Given the description of an element on the screen output the (x, y) to click on. 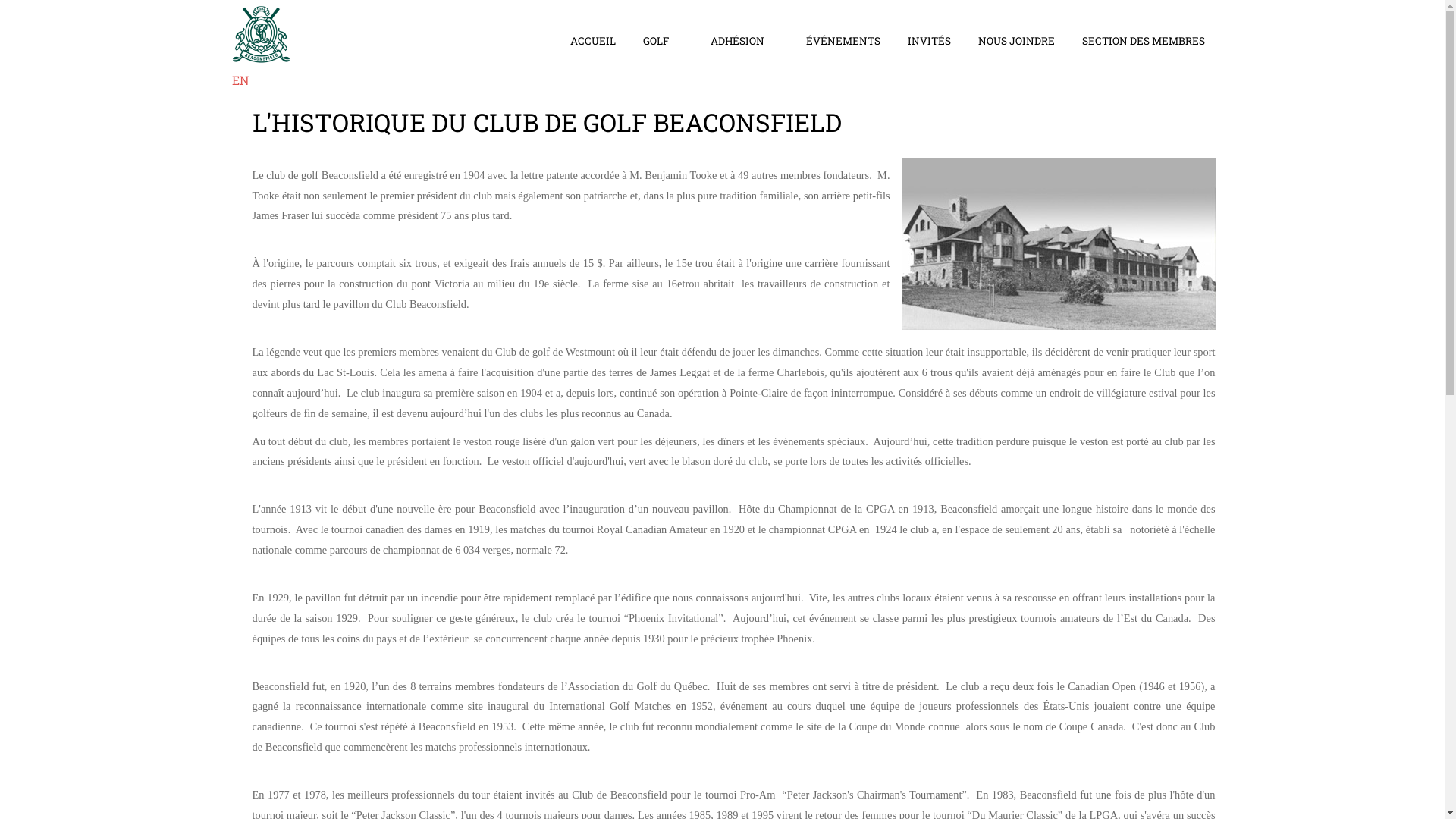
GOLF Element type: text (663, 41)
SECTION DES MEMBRES Element type: text (1142, 41)
ACCUEIL Element type: text (592, 40)
EN Element type: text (260, 45)
ACCUEIL Element type: text (592, 41)
NOUS JOINDRE Element type: text (1016, 41)
GOLF Element type: text (655, 40)
EN Element type: text (240, 79)
NOUS JOINDRE Element type: text (1016, 40)
SECTION DES MEMBRES Element type: text (1142, 40)
